Given the description of an element on the screen output the (x, y) to click on. 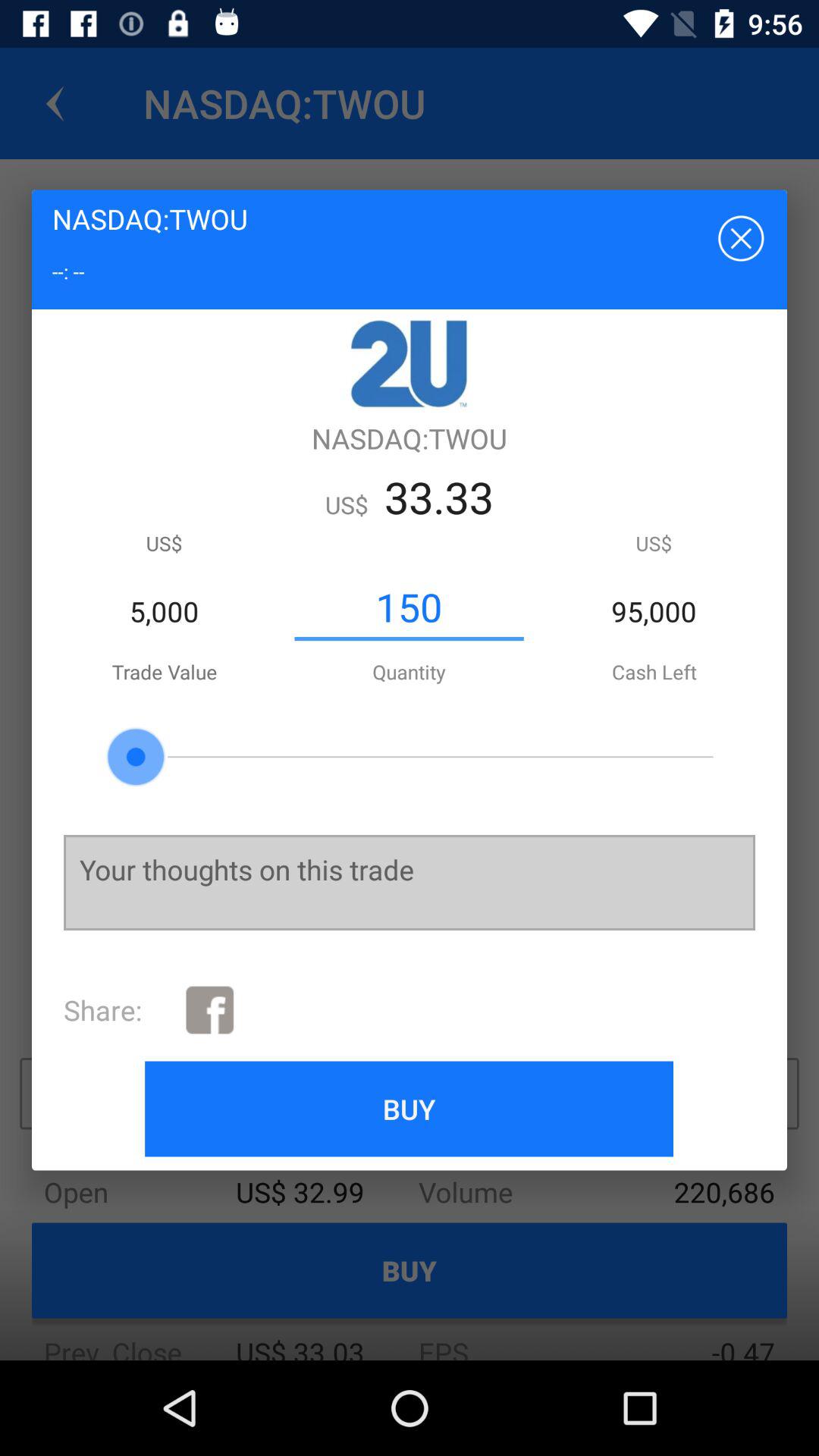
select the icon to the right of nasdaq:twou icon (739, 237)
